Given the description of an element on the screen output the (x, y) to click on. 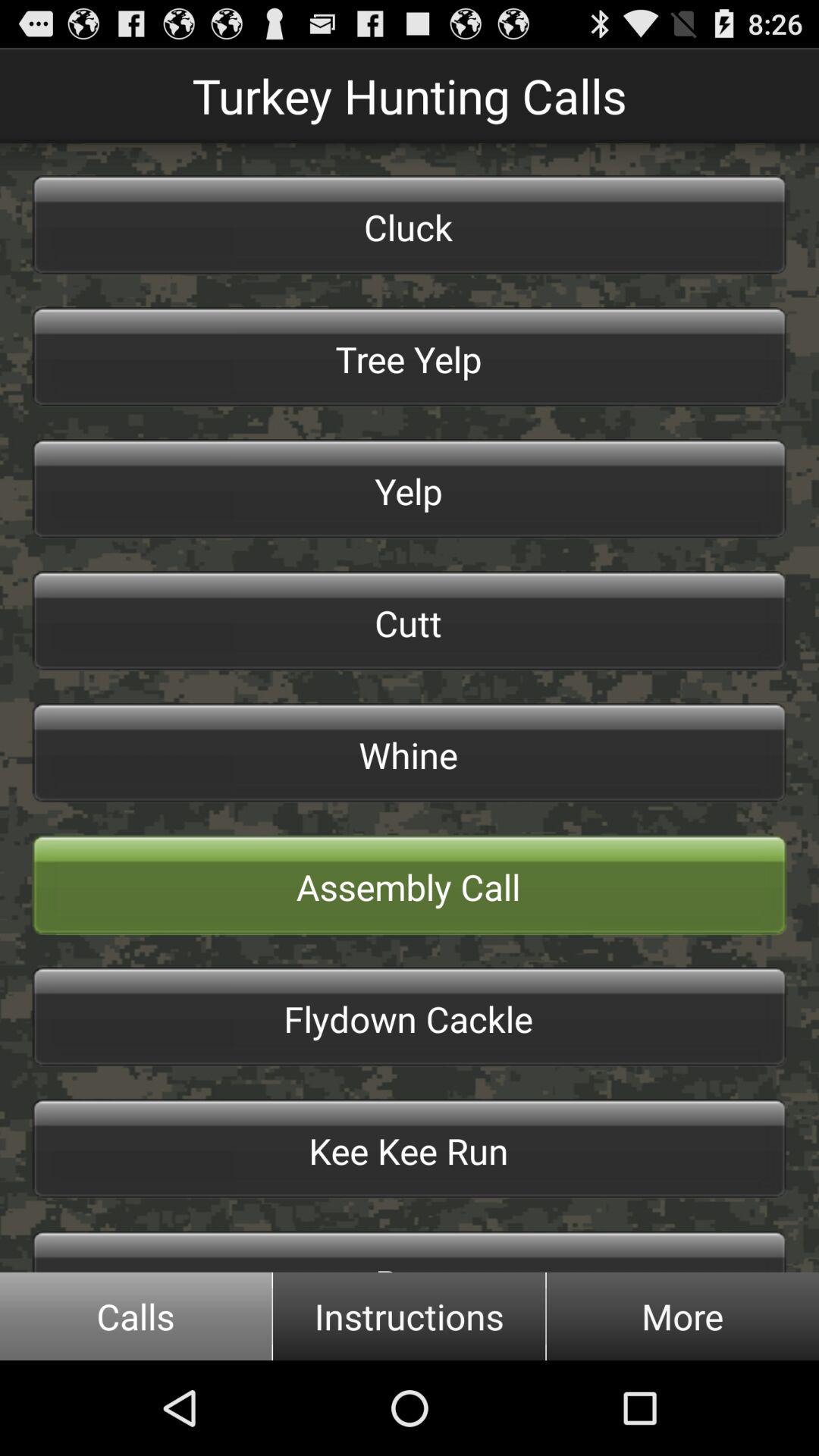
select item below assembly call (409, 1016)
